Given the description of an element on the screen output the (x, y) to click on. 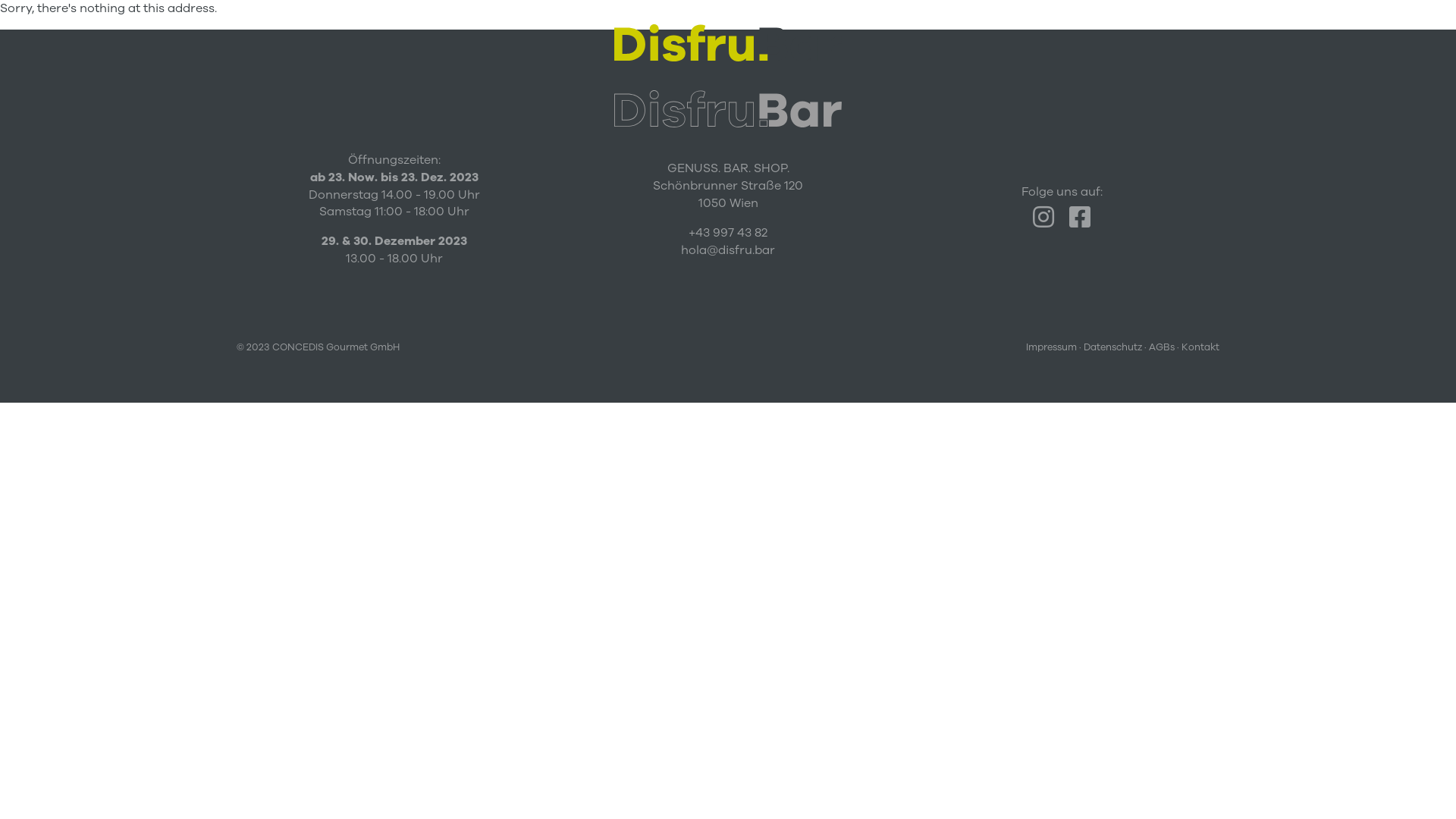
hola@disfru.bar Element type: text (727, 249)
+43 997 43 82 Element type: text (727, 232)
Kontakt Element type: text (1200, 346)
Datenschutz Element type: text (1112, 346)
AGBs Element type: text (1161, 346)
Impressum Element type: text (1051, 346)
